Given the description of an element on the screen output the (x, y) to click on. 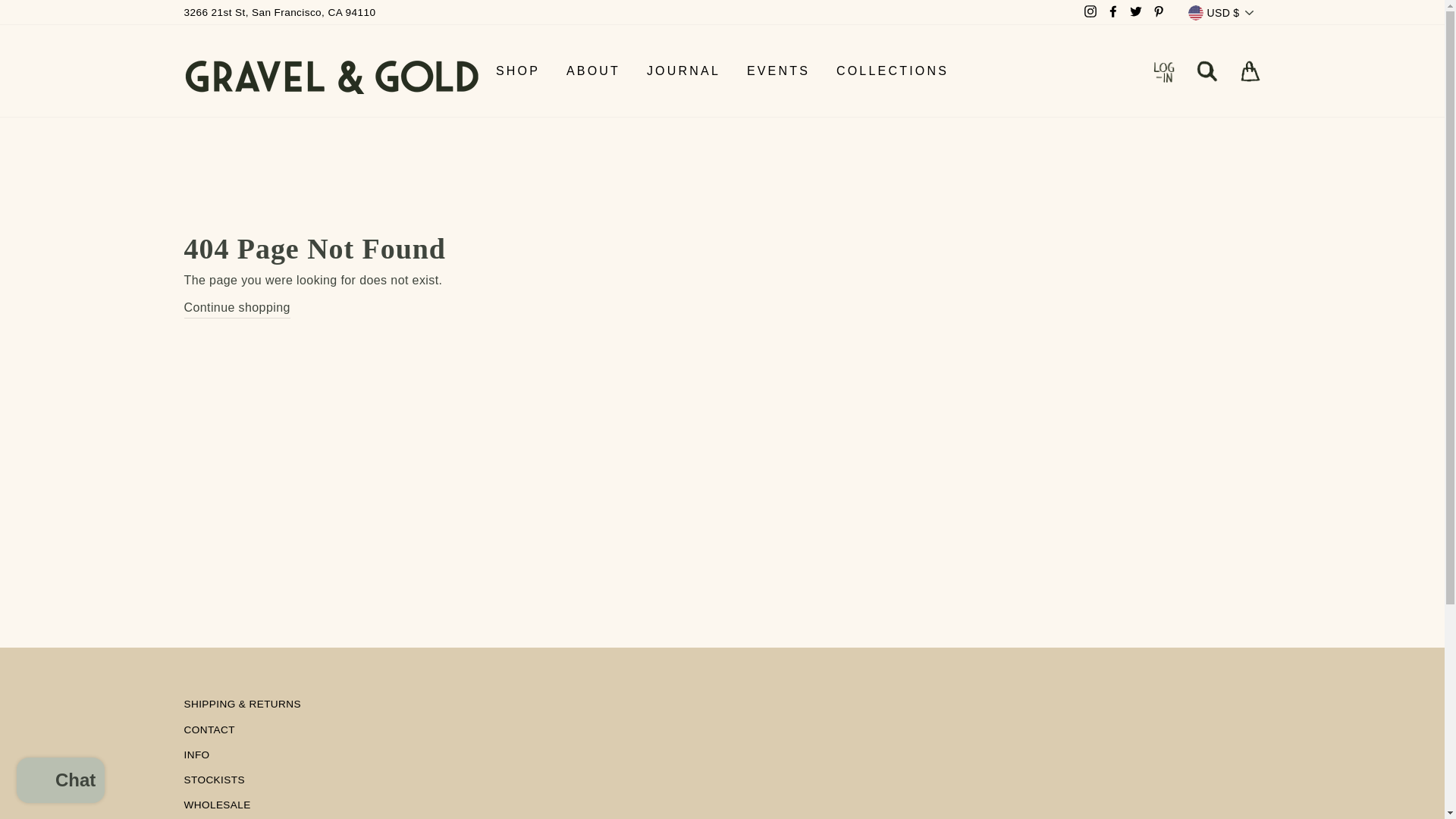
Shopify online store chat (60, 781)
